Given the description of an element on the screen output the (x, y) to click on. 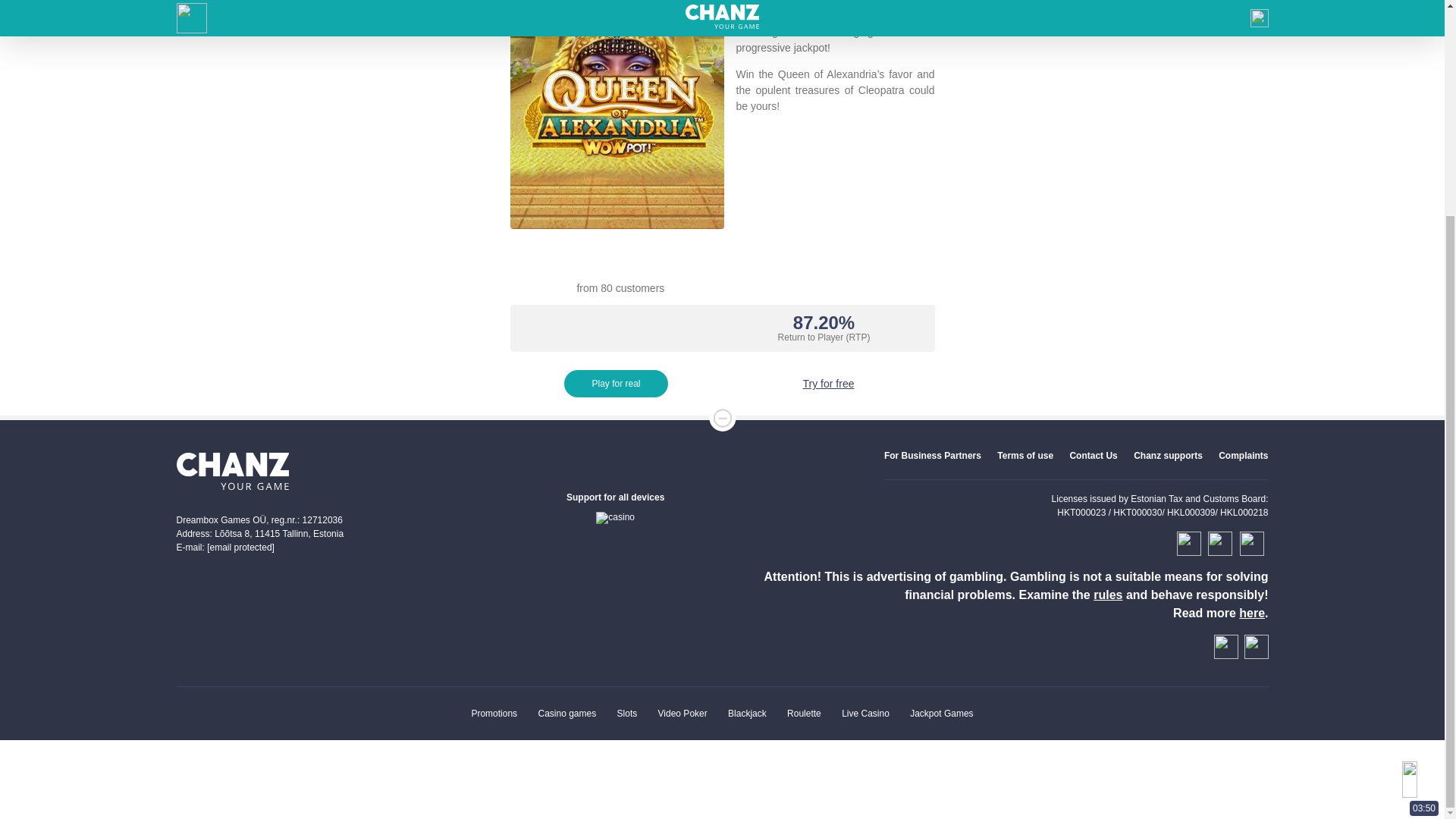
Try for free (828, 383)
here (1252, 612)
For Business Partners (932, 455)
Chanz supports (1168, 455)
Promotions (493, 713)
Blackjack (747, 713)
Jackpot Games (941, 713)
Casino games (566, 713)
Contact Us (1092, 455)
Terms of use (1024, 455)
